Given the description of an element on the screen output the (x, y) to click on. 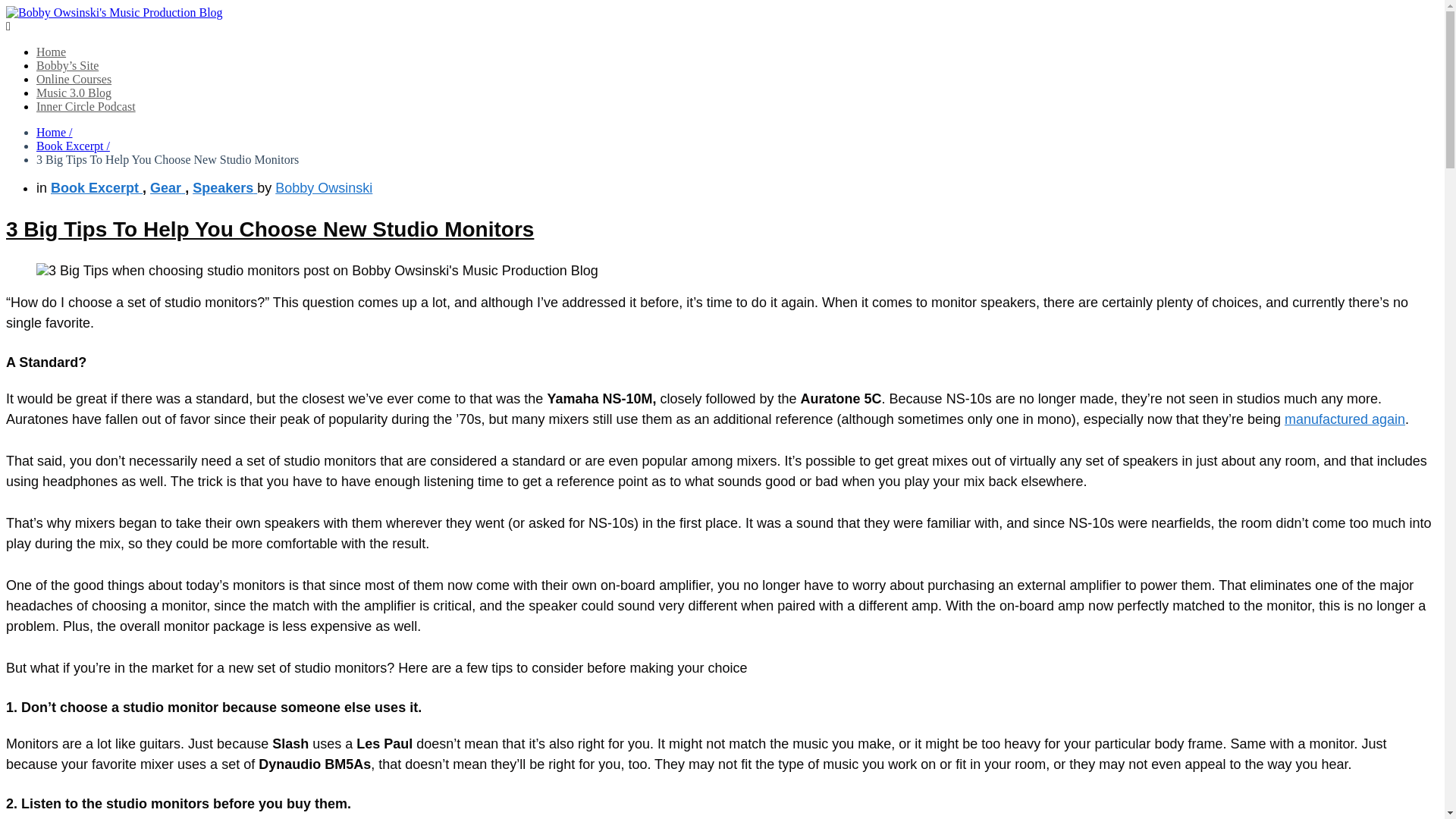
Speakers (224, 187)
Home (50, 51)
Online Courses (74, 78)
Book Excerpt (96, 187)
3 Big Tips To Help You Choose New Studio Monitors (269, 228)
Inner Circle Podcast (85, 106)
manufactured again (1344, 418)
Bobby Owsinski (323, 187)
Music 3.0 Blog (74, 92)
Gear (166, 187)
